Given the description of an element on the screen output the (x, y) to click on. 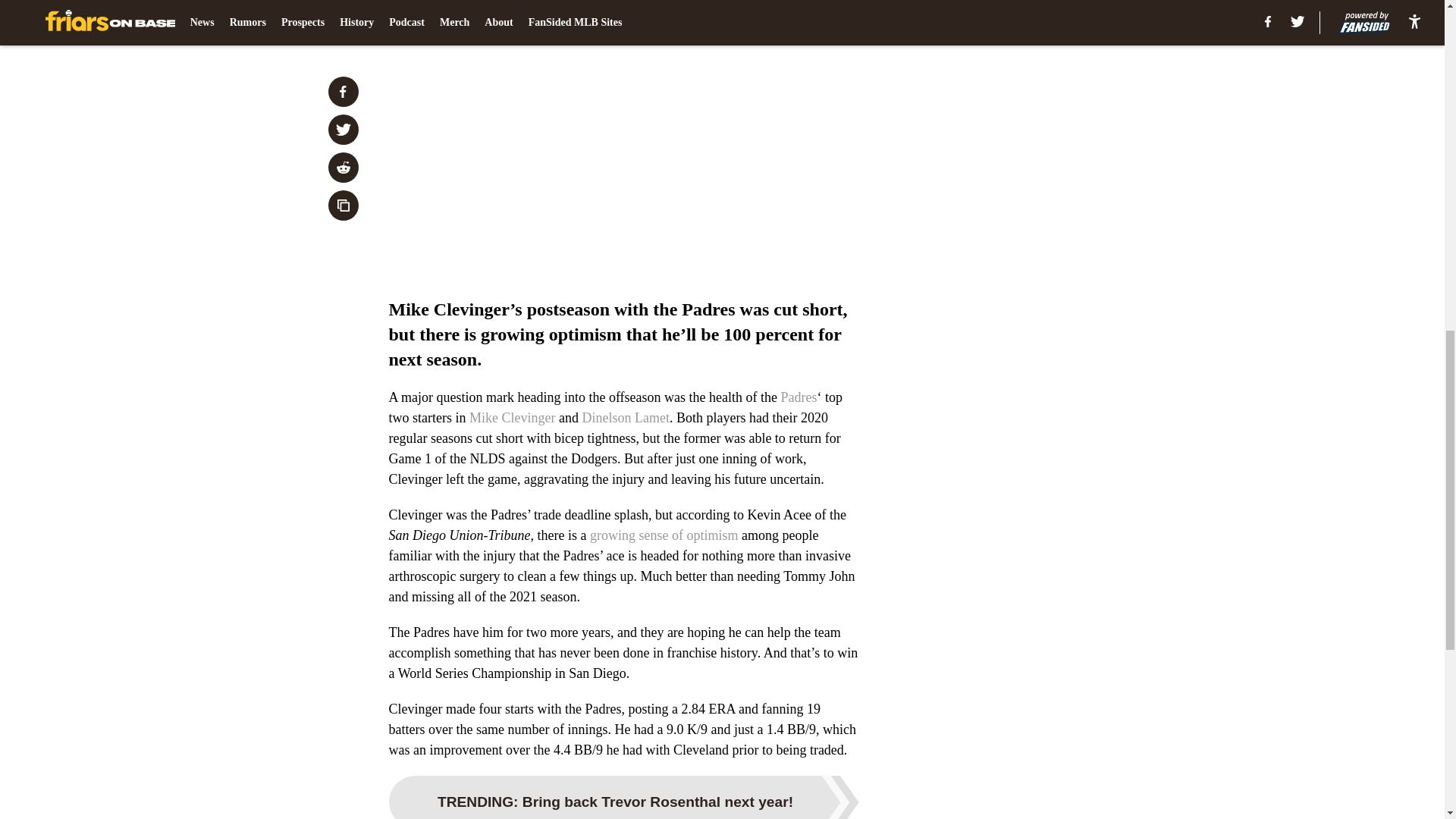
TRENDING: Bring back Trevor Rosenthal next year! (623, 797)
Padres (798, 396)
Dinelson Lamet (624, 417)
growing sense of optimism (663, 534)
Mike Clevinger (511, 417)
